Given the description of an element on the screen output the (x, y) to click on. 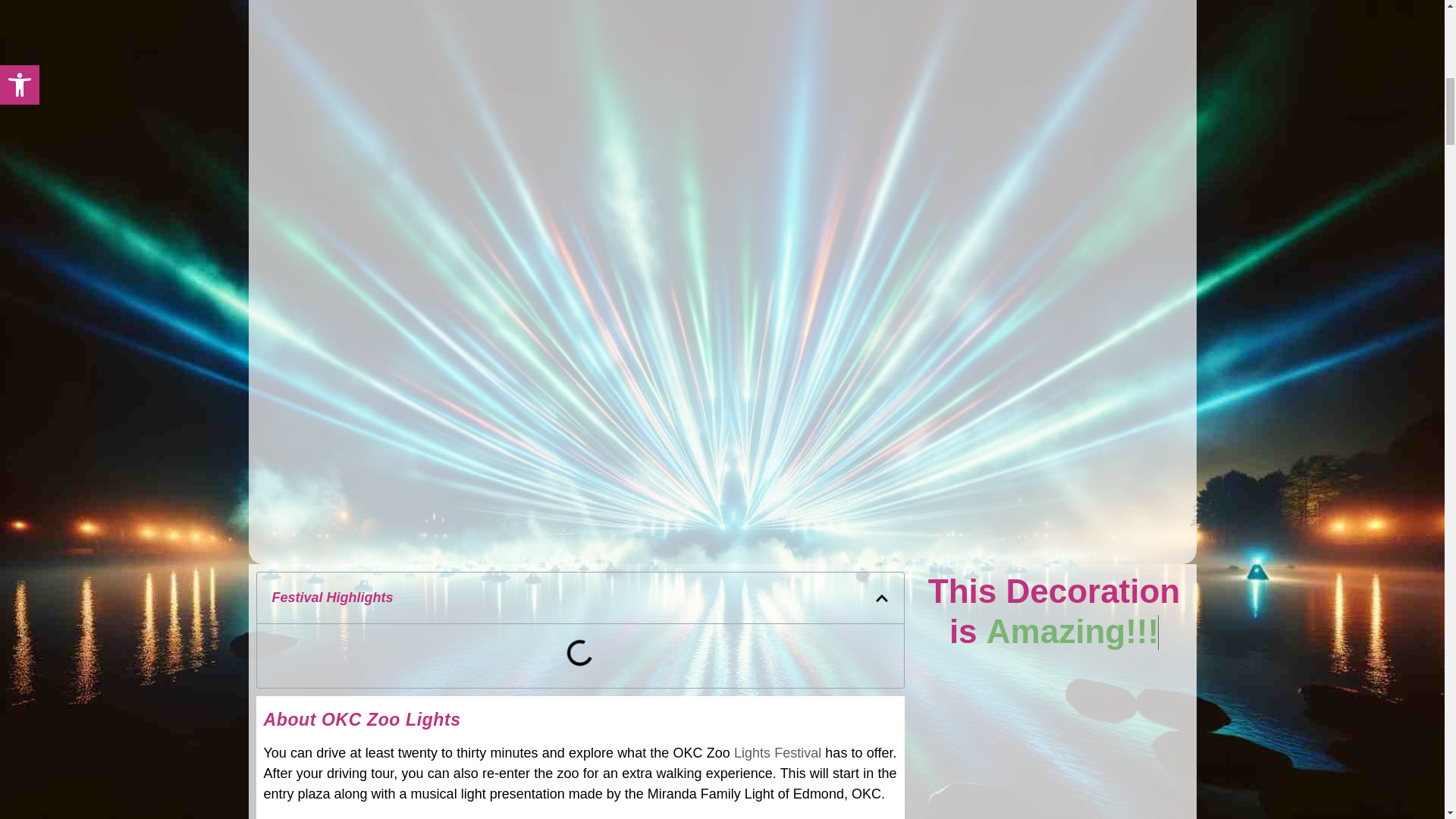
Lights Festival (777, 752)
